Given the description of an element on the screen output the (x, y) to click on. 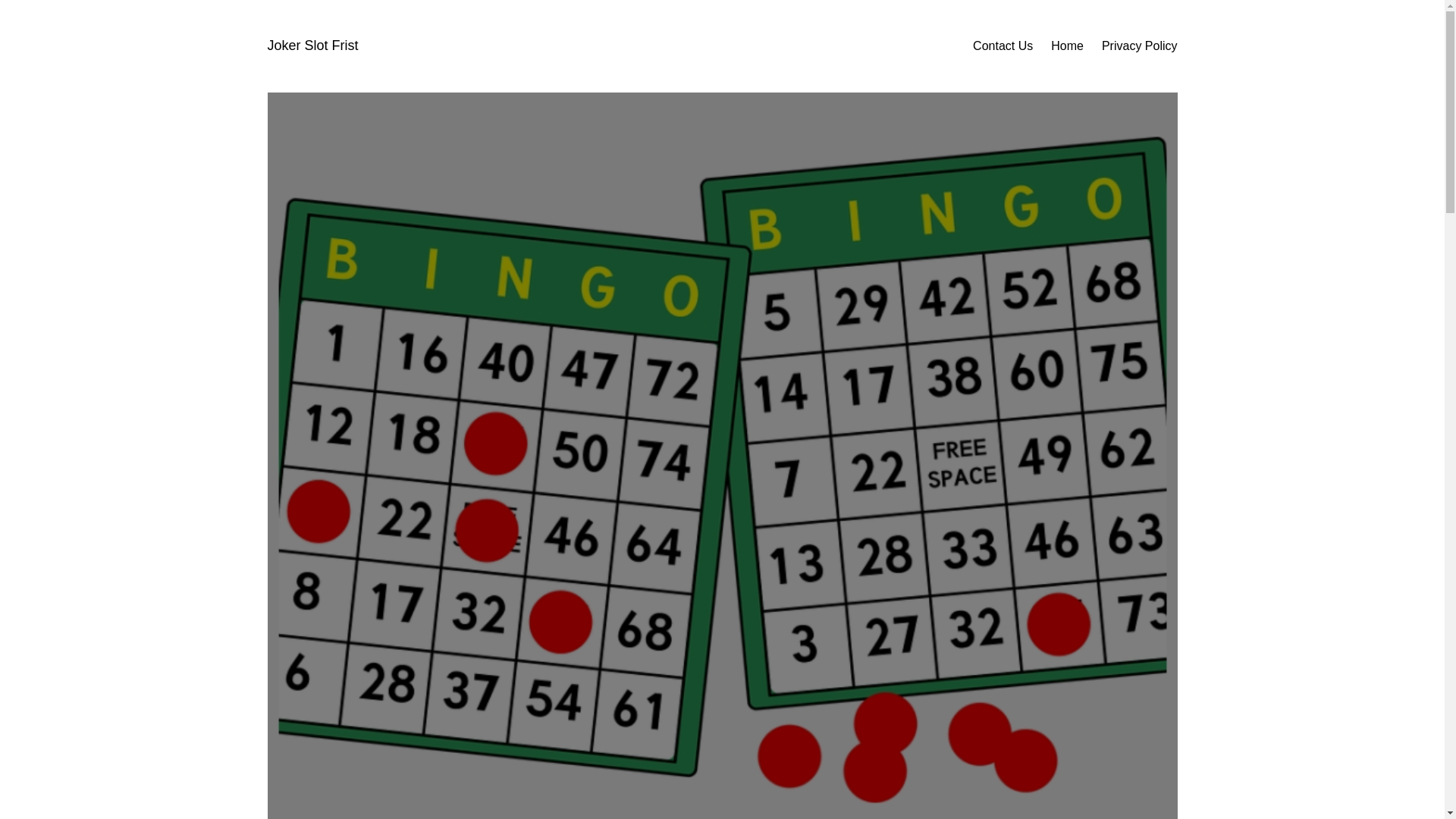
Home (1067, 46)
Joker Slot Frist (312, 45)
Privacy Policy (1139, 46)
Contact Us (1002, 46)
